Given the description of an element on the screen output the (x, y) to click on. 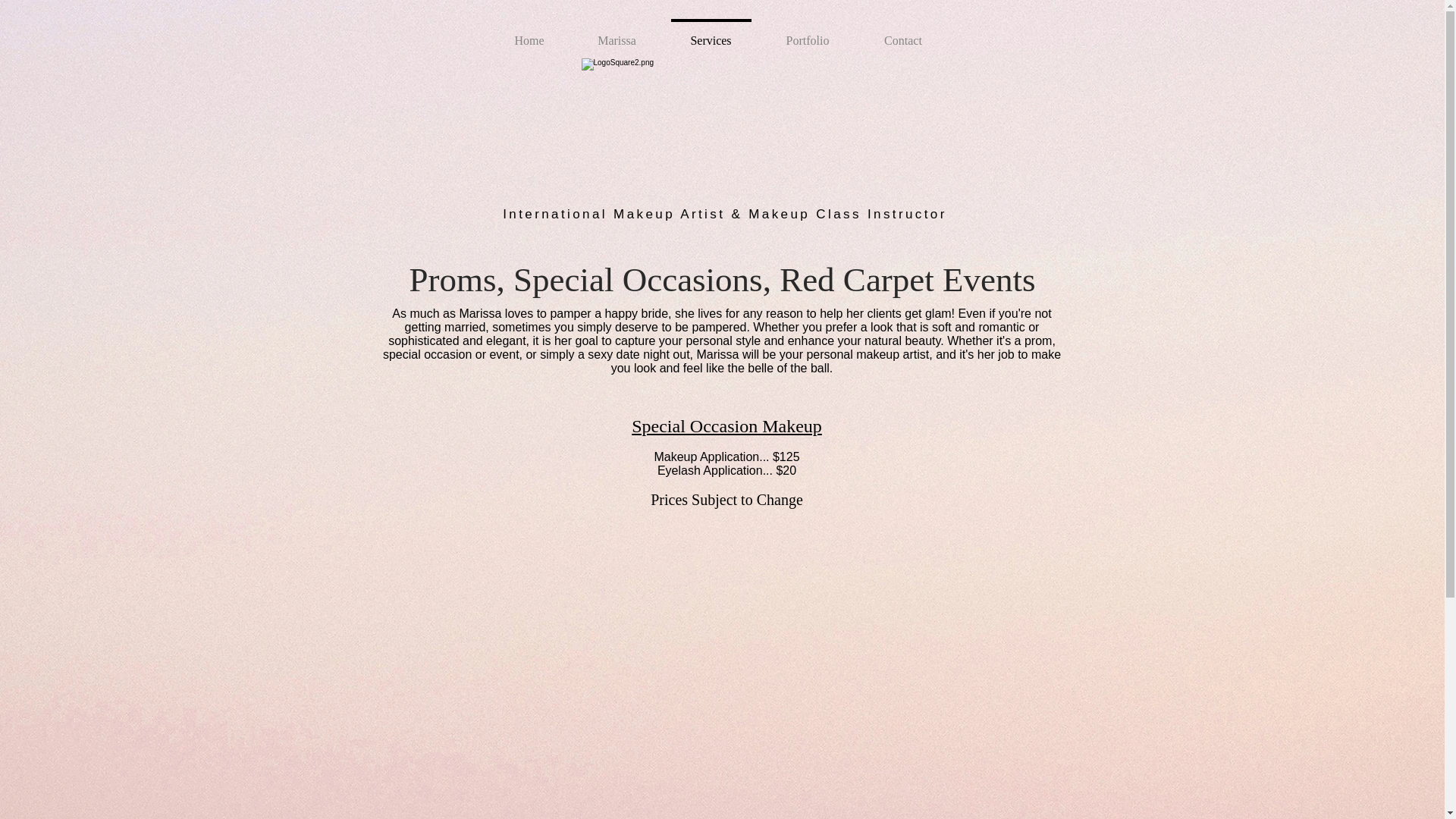
Portfolio (807, 33)
Home (528, 33)
Contact (903, 33)
Services (710, 33)
Marissa (616, 33)
